Given the description of an element on the screen output the (x, y) to click on. 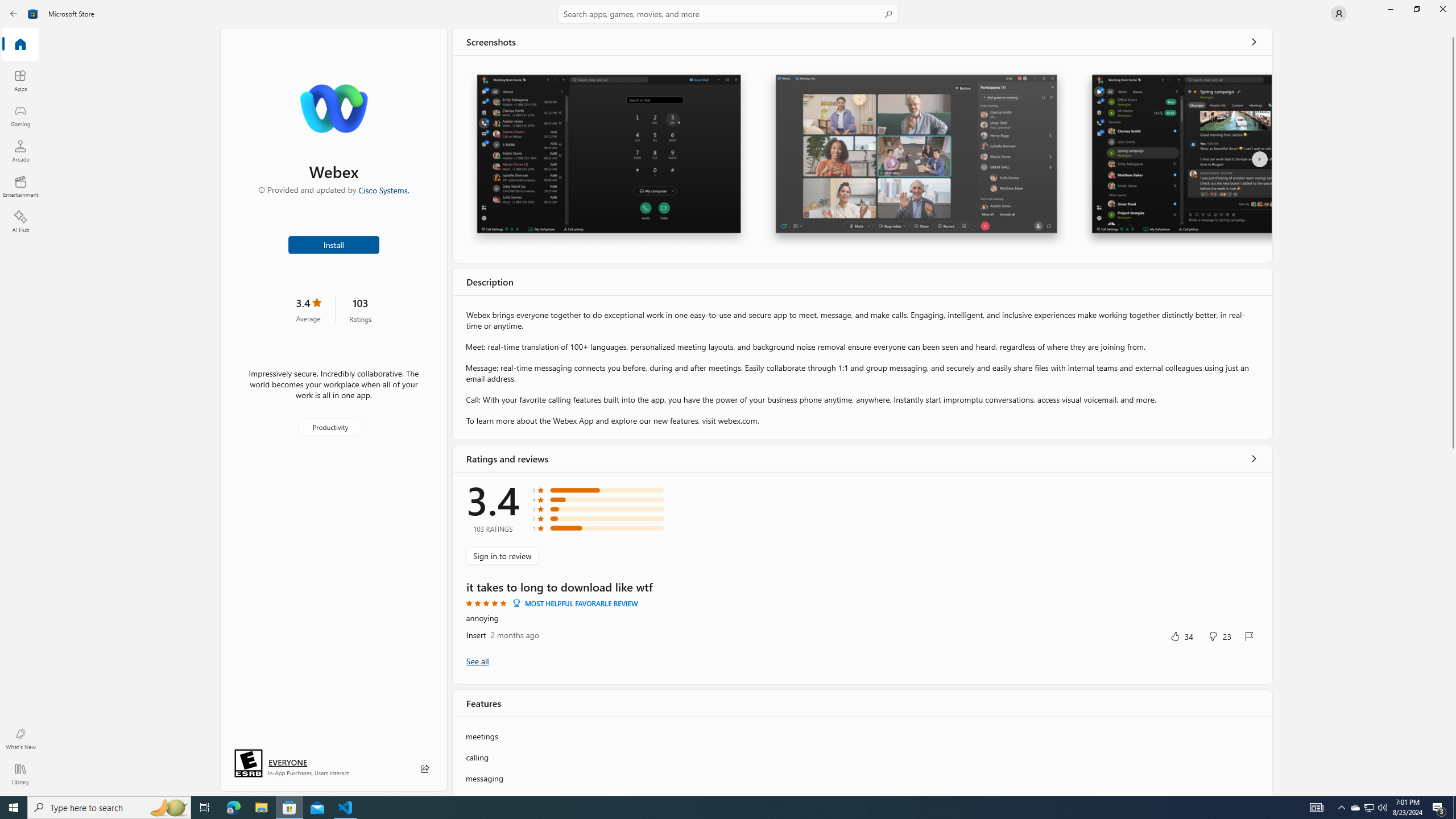
Screenshot 1 (608, 158)
Yes, this was helpful. 34 votes. (1181, 636)
Library (20, 773)
Share (424, 769)
User profile (1338, 13)
Gaming (20, 115)
Vertical Small Decrease (1452, 31)
Show all ratings and reviews (477, 660)
Vertical Large Increase (1452, 619)
Search (727, 13)
See all (1253, 41)
3.4 stars. Click to skip to ratings and reviews (307, 309)
Show all ratings and reviews (1253, 458)
Vertical (1452, 412)
